Given the description of an element on the screen output the (x, y) to click on. 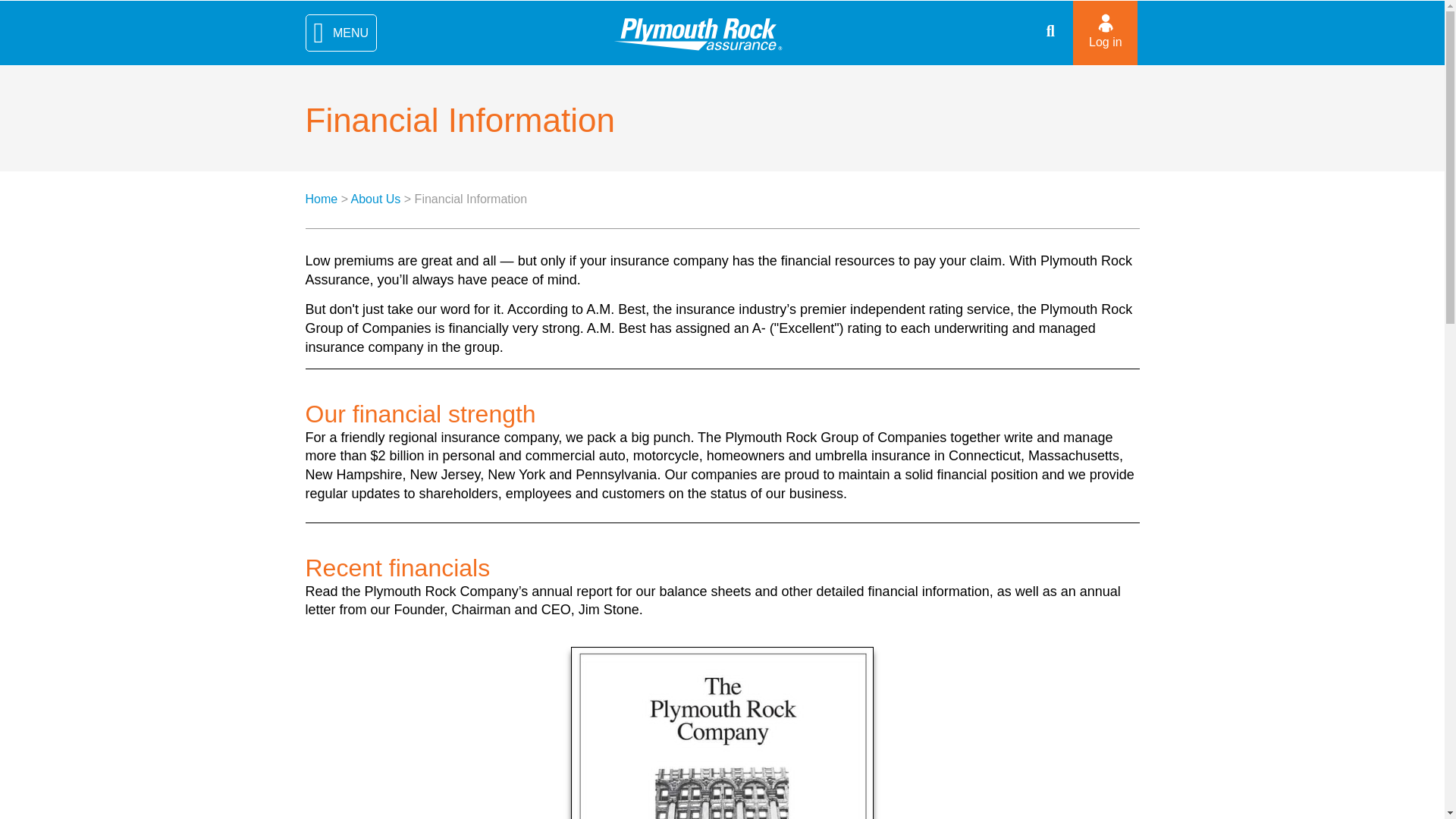
MENU (340, 32)
Log in (1105, 32)
Home (320, 198)
About Us (375, 198)
